Given the description of an element on the screen output the (x, y) to click on. 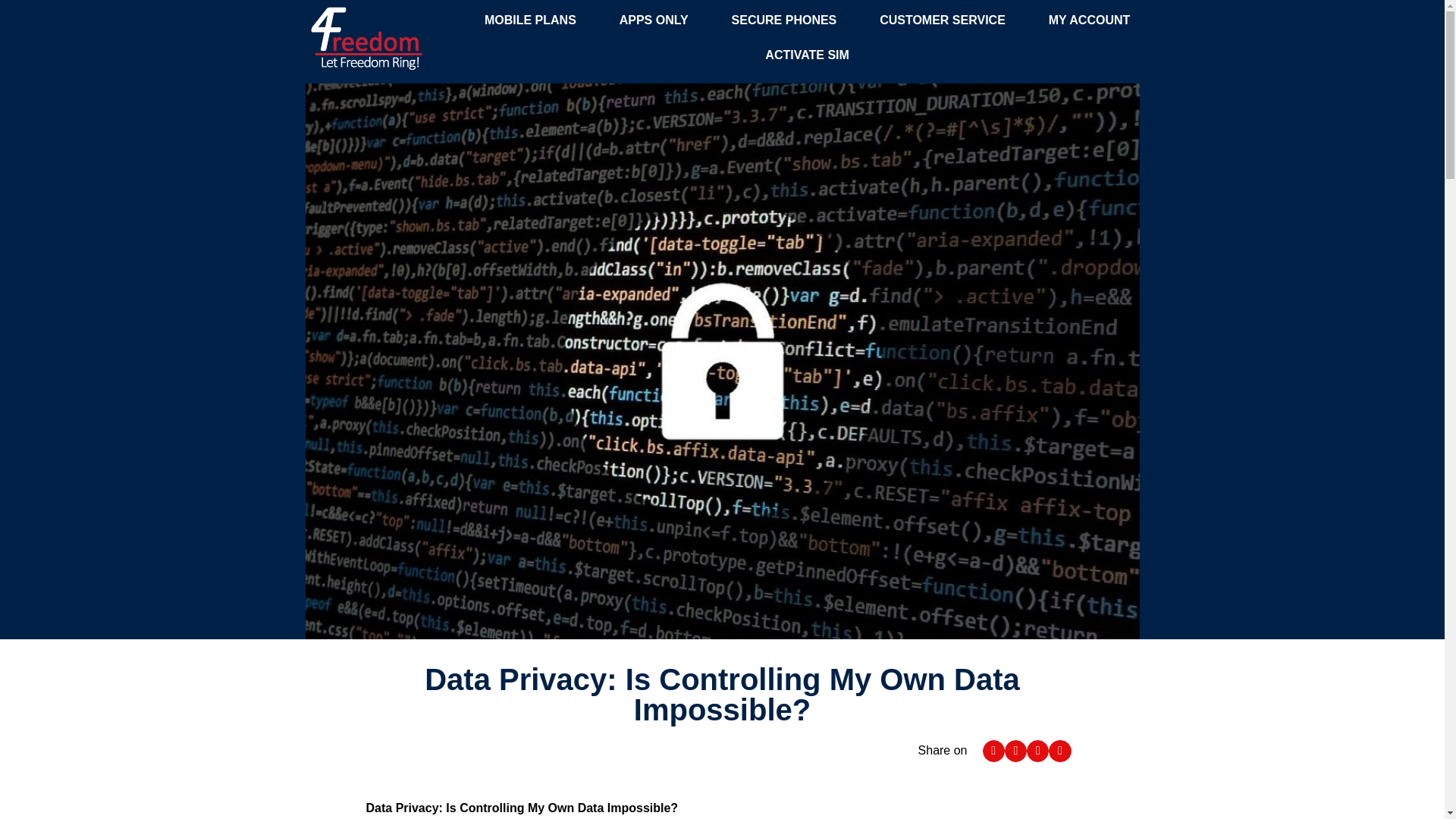
CUSTOMER SERVICE (943, 20)
SECURE PHONES (784, 20)
ACTIVATE SIM (807, 54)
200x117a (365, 38)
MY ACCOUNT (1088, 20)
APPS ONLY (653, 20)
MOBILE PLANS (529, 20)
